Given the description of an element on the screen output the (x, y) to click on. 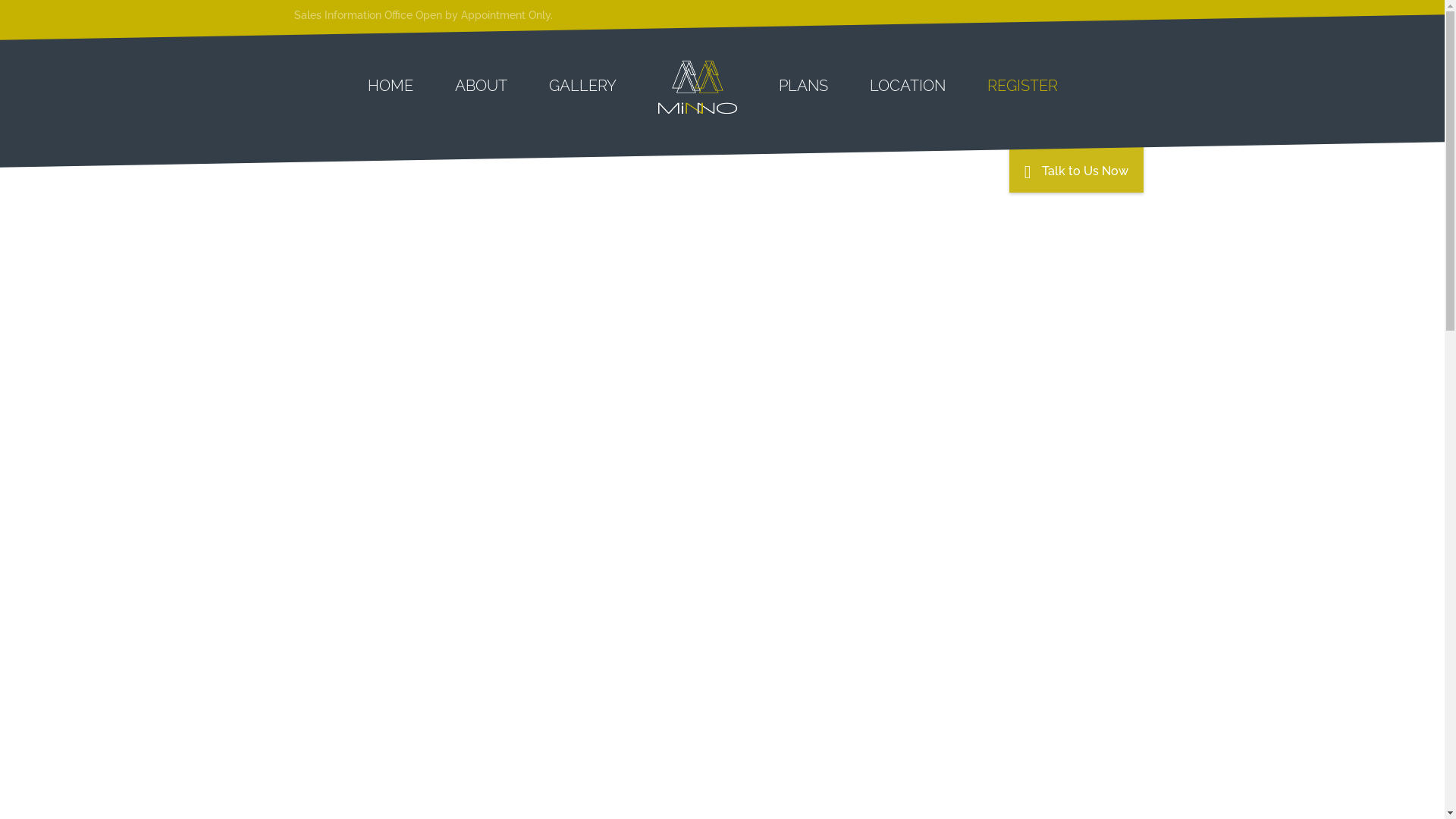
ABOUT Element type: text (481, 85)
HOME Element type: text (399, 85)
Talk to Us Now Element type: text (1076, 166)
REGISTER Element type: text (1022, 85)
GALLERY Element type: text (582, 85)
PLANS Element type: text (803, 85)
LOCATION Element type: text (907, 85)
